Given the description of an element on the screen output the (x, y) to click on. 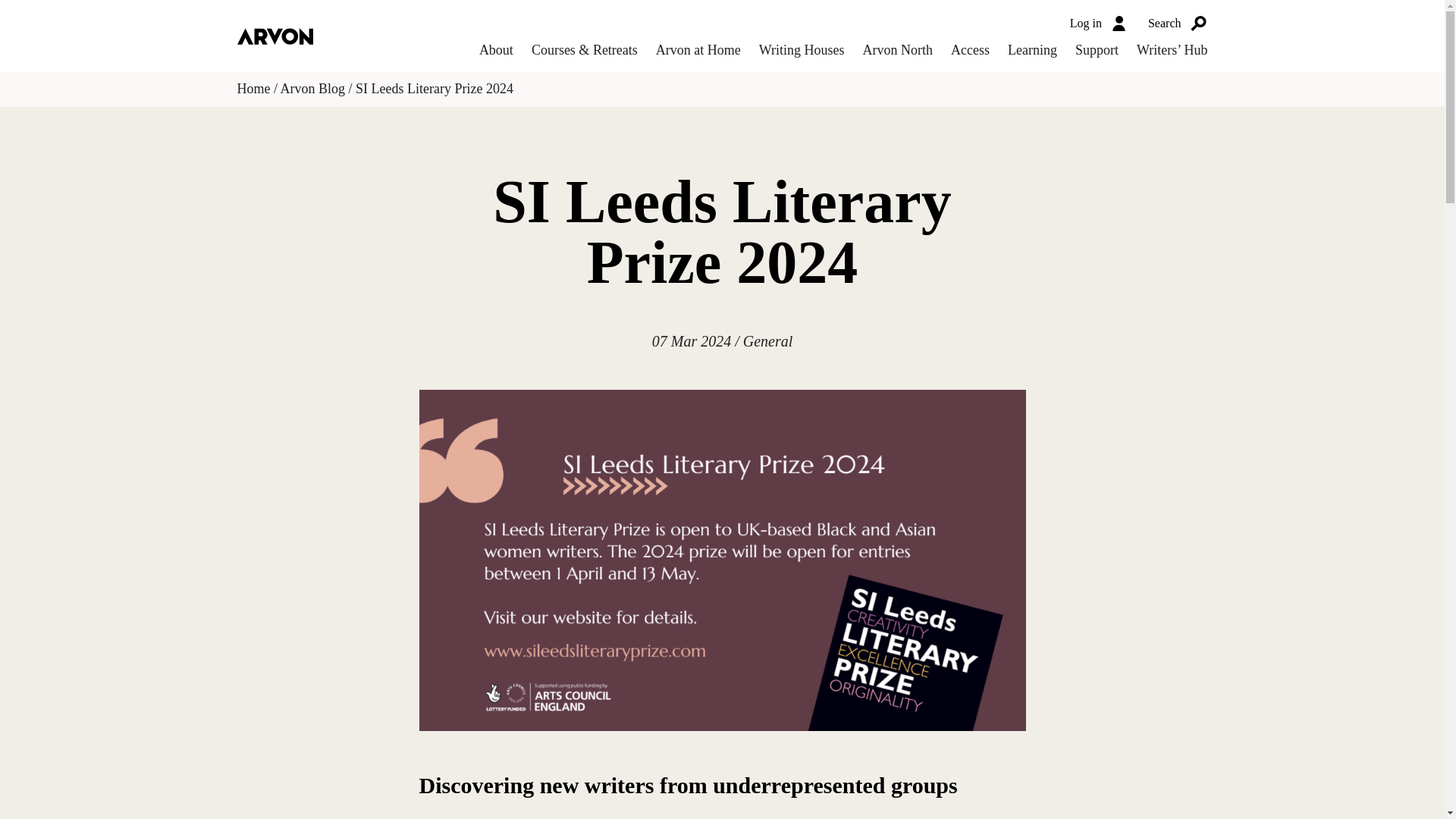
Learning (1032, 49)
Arvon at Home (698, 49)
Writing Houses (801, 49)
Access (970, 49)
Search (1178, 22)
Arvon North (898, 49)
Log in (1099, 22)
About (496, 49)
Log in (1099, 22)
